Given the description of an element on the screen output the (x, y) to click on. 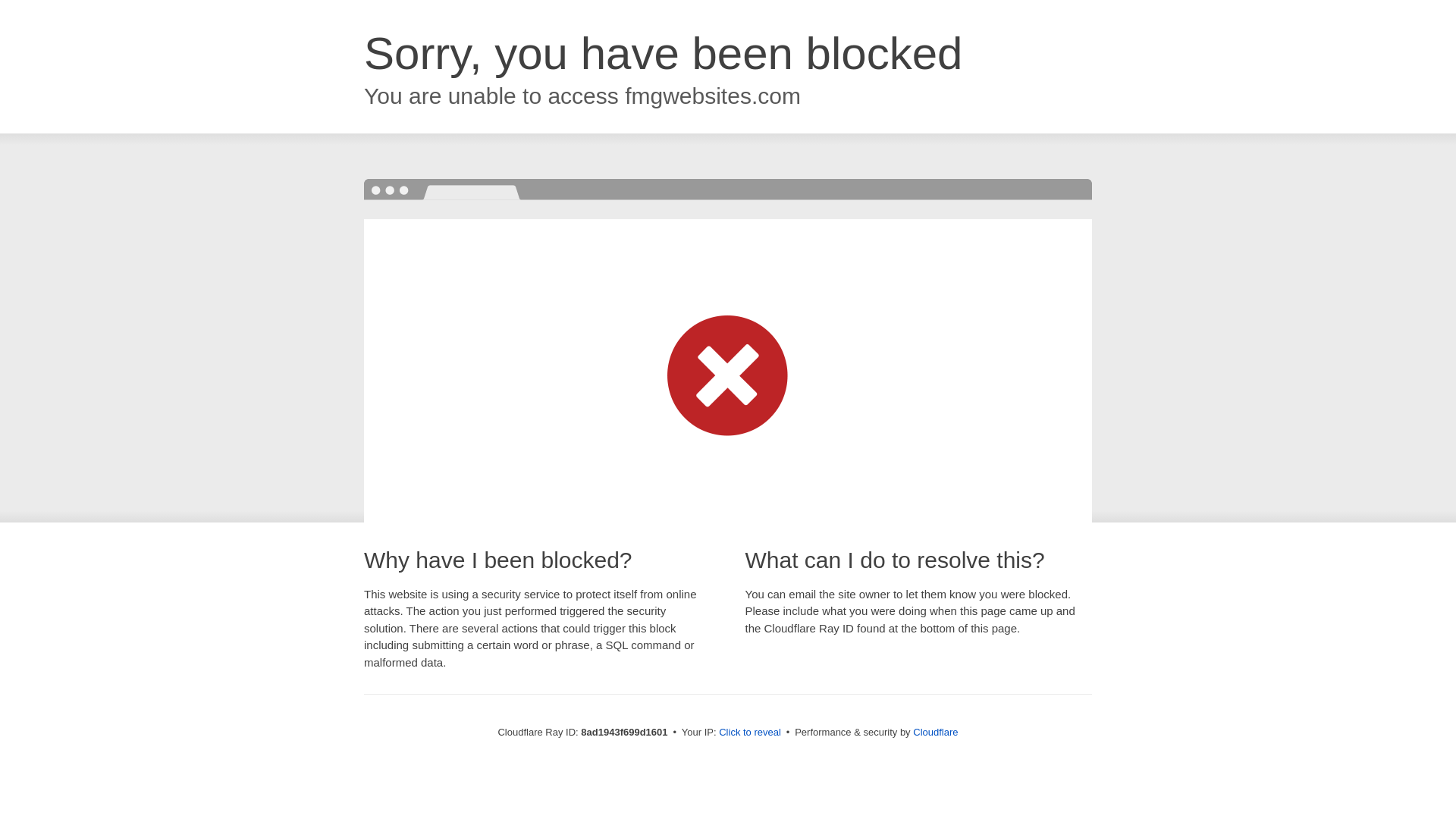
Click to reveal (749, 732)
Cloudflare (935, 731)
